Given the description of an element on the screen output the (x, y) to click on. 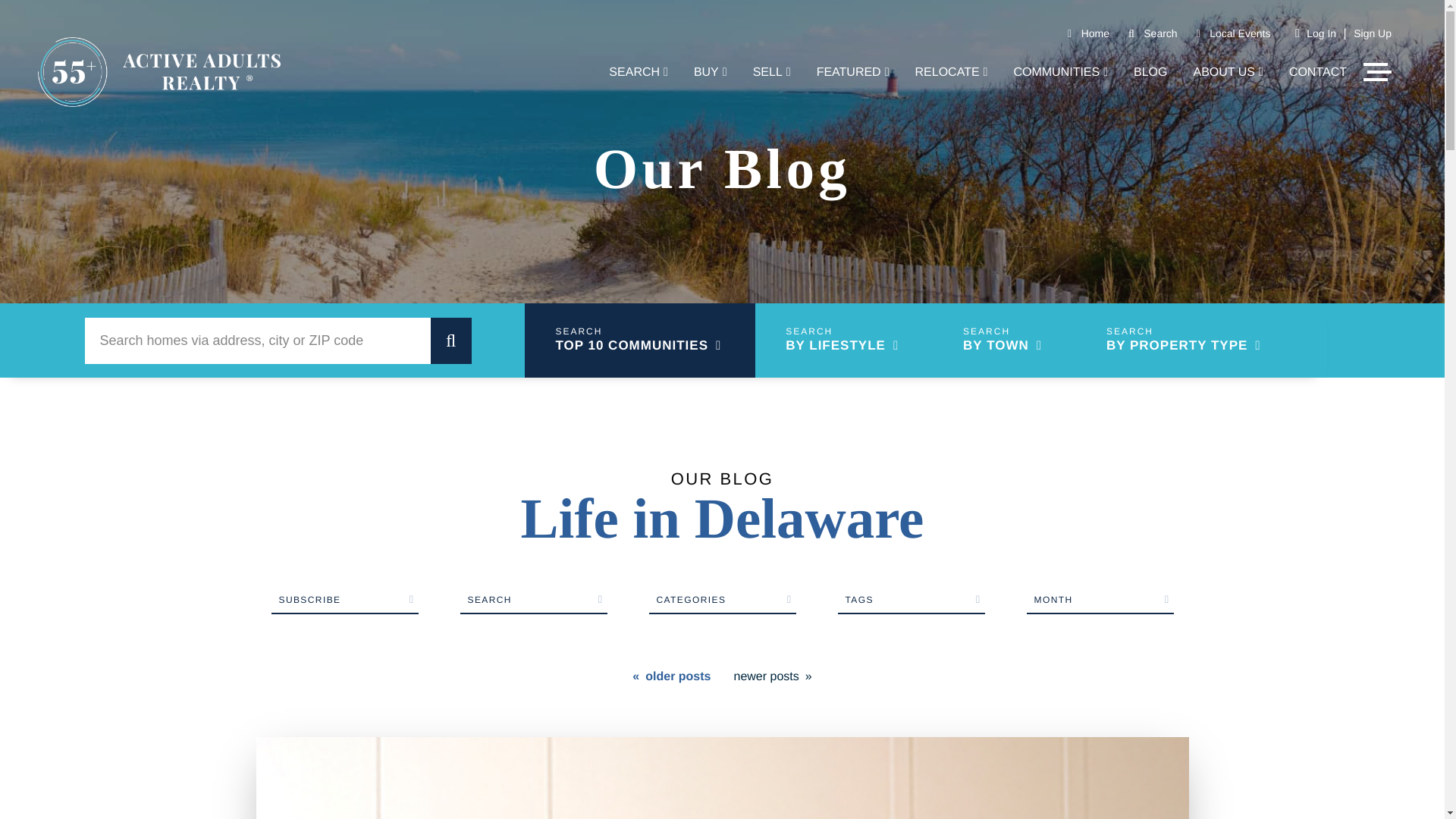
SEARCH (638, 72)
Log In (1321, 33)
FEATURED (852, 72)
COMMUNITIES (1060, 72)
Local Events (1239, 33)
SELL (771, 72)
ABOUT US (1228, 72)
BUY (710, 72)
Home (1095, 33)
Search (1159, 33)
